Given the description of an element on the screen output the (x, y) to click on. 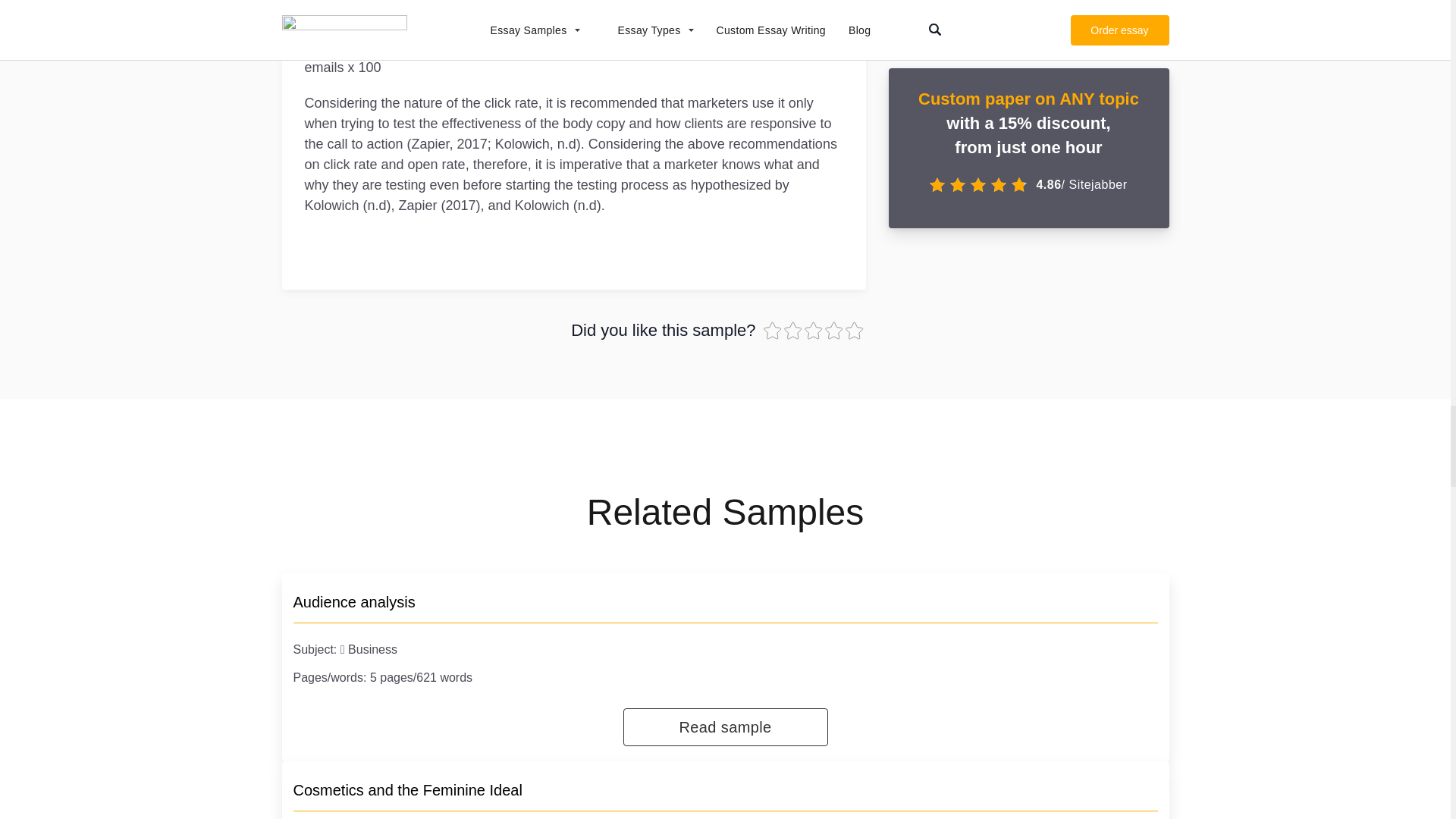
17 votes, average: 4,6 out of 5 (835, 330)
17 votes, average: 4,6 out of 5 (813, 330)
17 votes, average: 4,6 out of 5 (772, 330)
17 votes, average: 4,6 out of 5 (794, 330)
Cosmetics and the Feminine Ideal (406, 790)
Audience analysis (353, 601)
17 votes, average: 4,6 out of 5 (854, 330)
